Given the description of an element on the screen output the (x, y) to click on. 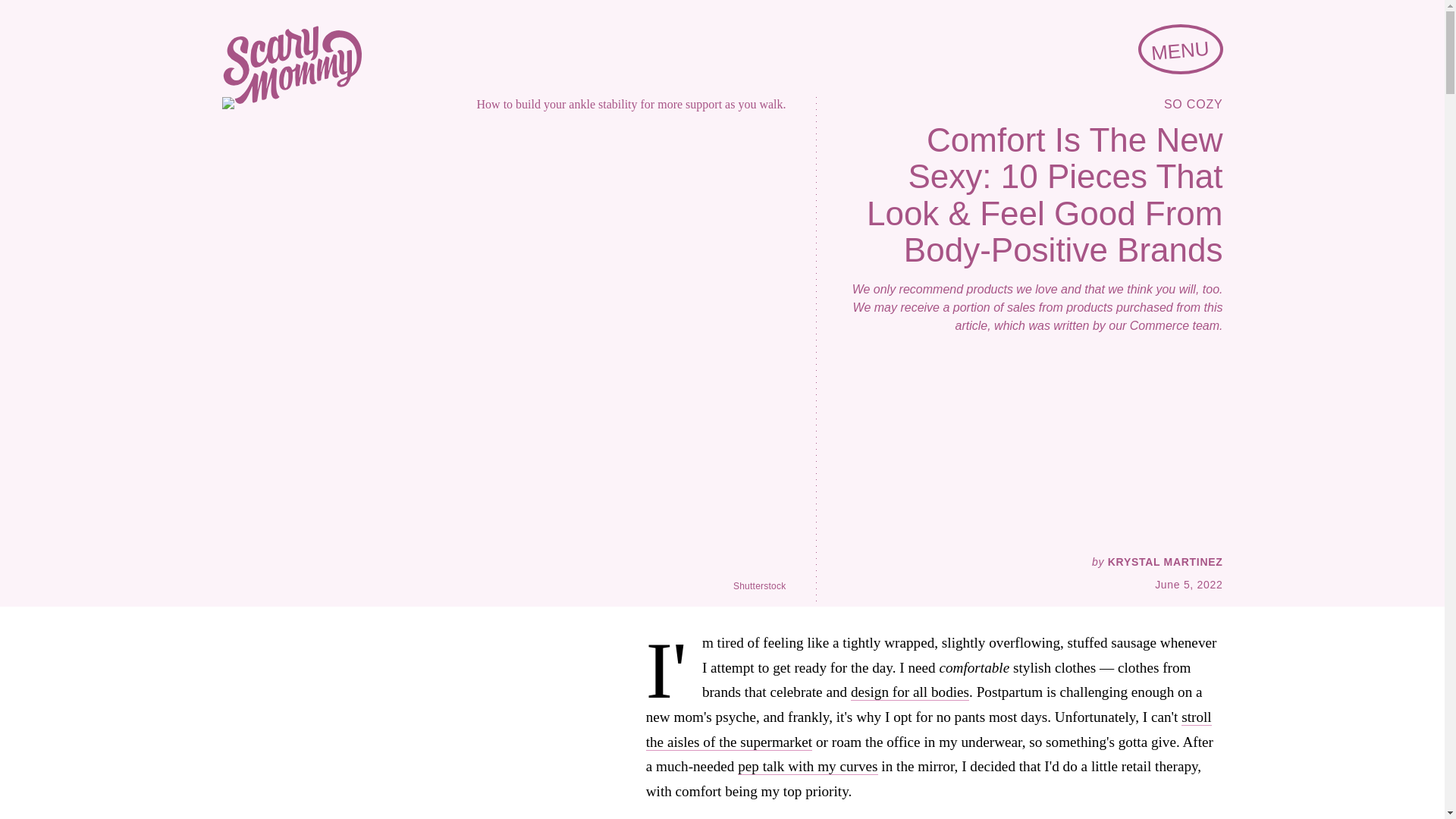
Scary Mommy (291, 64)
pep talk with my curves (807, 766)
stroll the aisles of the supermarket (928, 730)
design for all bodies (909, 692)
KRYSTAL MARTINEZ (1165, 562)
